Given the description of an element on the screen output the (x, y) to click on. 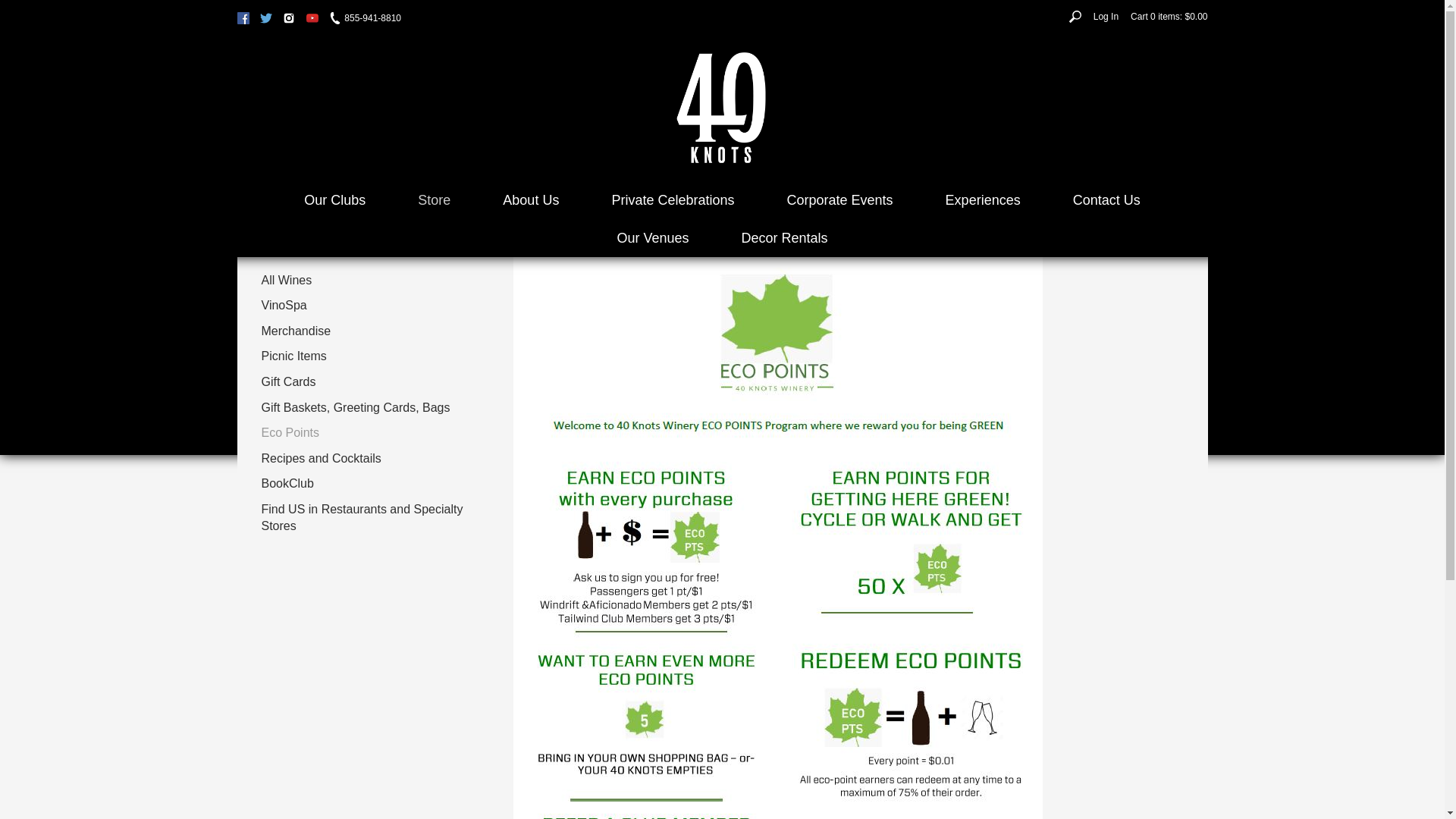
Our Clubs Element type: text (334, 200)
Gift Cards Element type: text (368, 382)
Recipes and Cocktails Element type: text (368, 458)
Decor Rentals Element type: text (784, 238)
Cart 0 items: $0.00 Element type: text (1168, 16)
Store Element type: text (433, 200)
Experiences Element type: text (982, 200)
Picnic Items Element type: text (368, 357)
Eco Points Element type: text (368, 433)
Merchandise Element type: text (368, 331)
Log In Element type: text (1105, 16)
About Us Element type: text (530, 200)
Contact Us Element type: text (1106, 200)
Private Celebrations Element type: text (672, 200)
855-941-8810 Element type: text (365, 18)
Find US in Restaurants and Specialty Stores Element type: text (368, 517)
Corporate Events Element type: text (839, 200)
All Wines Element type: text (368, 280)
Our Venues Element type: text (652, 238)
VinoSpa Element type: text (368, 306)
BookClub Element type: text (368, 484)
Gift Baskets, Greeting Cards, Bags Element type: text (368, 407)
